Given the description of an element on the screen output the (x, y) to click on. 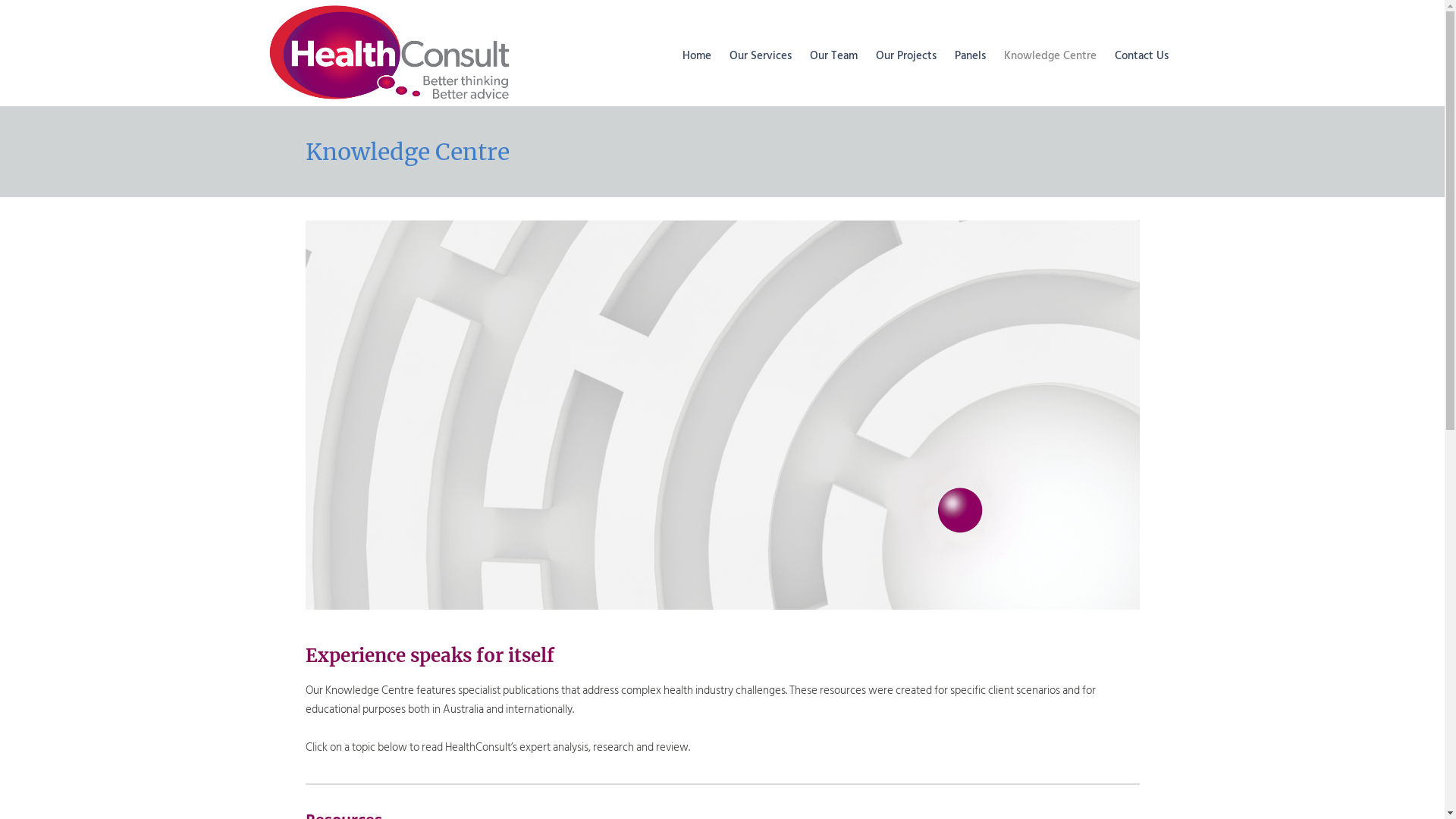
Panels Element type: text (969, 56)
Contact Us Element type: text (1141, 56)
Our Projects Element type: text (905, 56)
Knowledge Centre Element type: text (1049, 56)
Our Team Element type: text (833, 56)
Our Services Element type: text (760, 56)
Home Element type: text (696, 56)
